Given the description of an element on the screen output the (x, y) to click on. 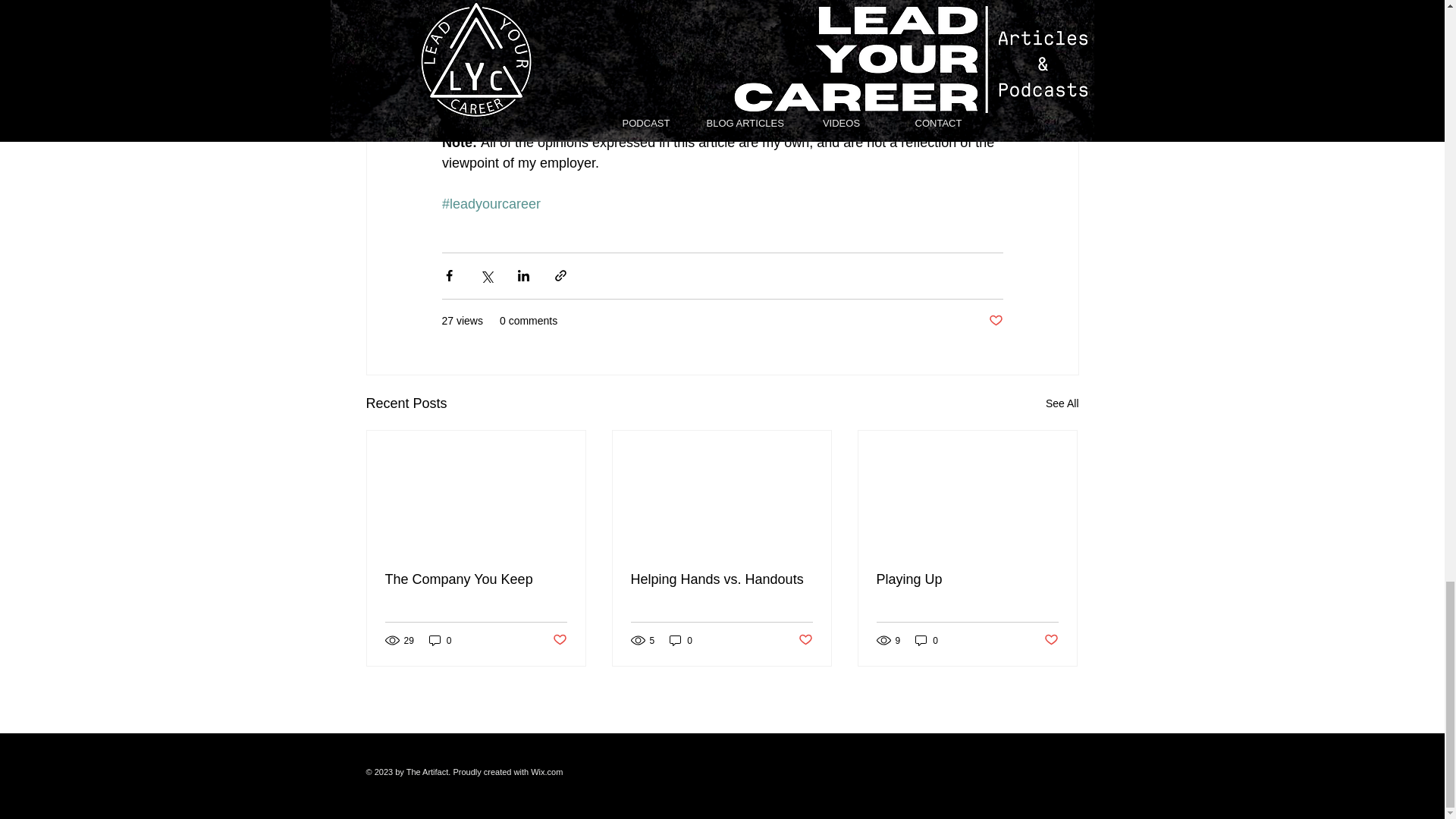
Playing Up (967, 579)
0 (440, 640)
Post not marked as liked (1050, 640)
Post not marked as liked (804, 640)
Helping Hands vs. Handouts (721, 579)
0 (926, 640)
Post not marked as liked (558, 640)
Wix.com (546, 771)
0 (681, 640)
Post not marked as liked (995, 320)
